Given the description of an element on the screen output the (x, y) to click on. 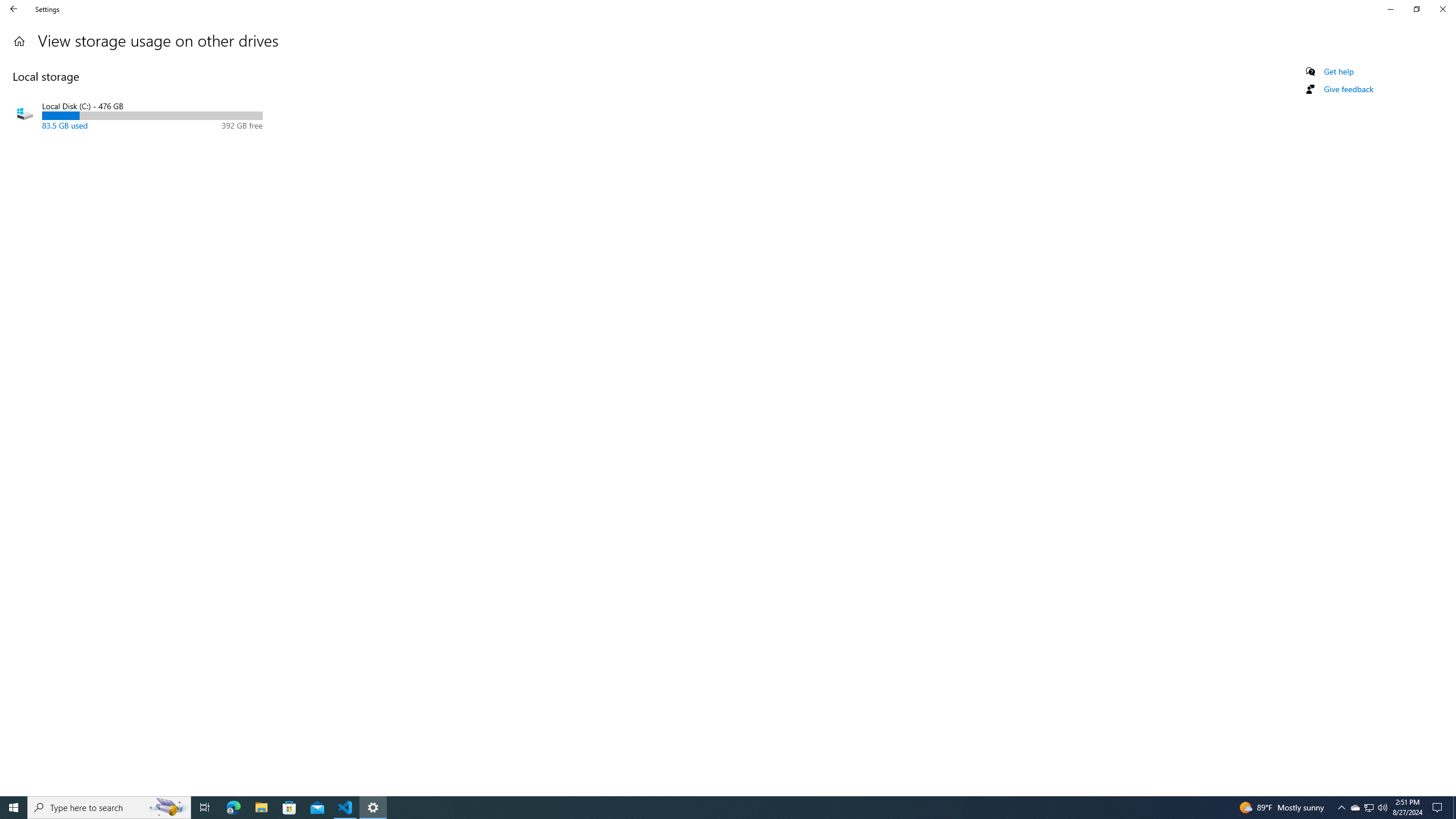
Start (13, 807)
Give feedback (1348, 88)
User Promoted Notification Area (1368, 807)
Restore Settings (1368, 807)
Microsoft Store (1416, 9)
Home (289, 807)
Running applications (19, 40)
Search highlights icon opens search home window (717, 807)
Get help (167, 807)
Minimize Settings (1338, 71)
Task View (1390, 9)
Back (204, 807)
